Given the description of an element on the screen output the (x, y) to click on. 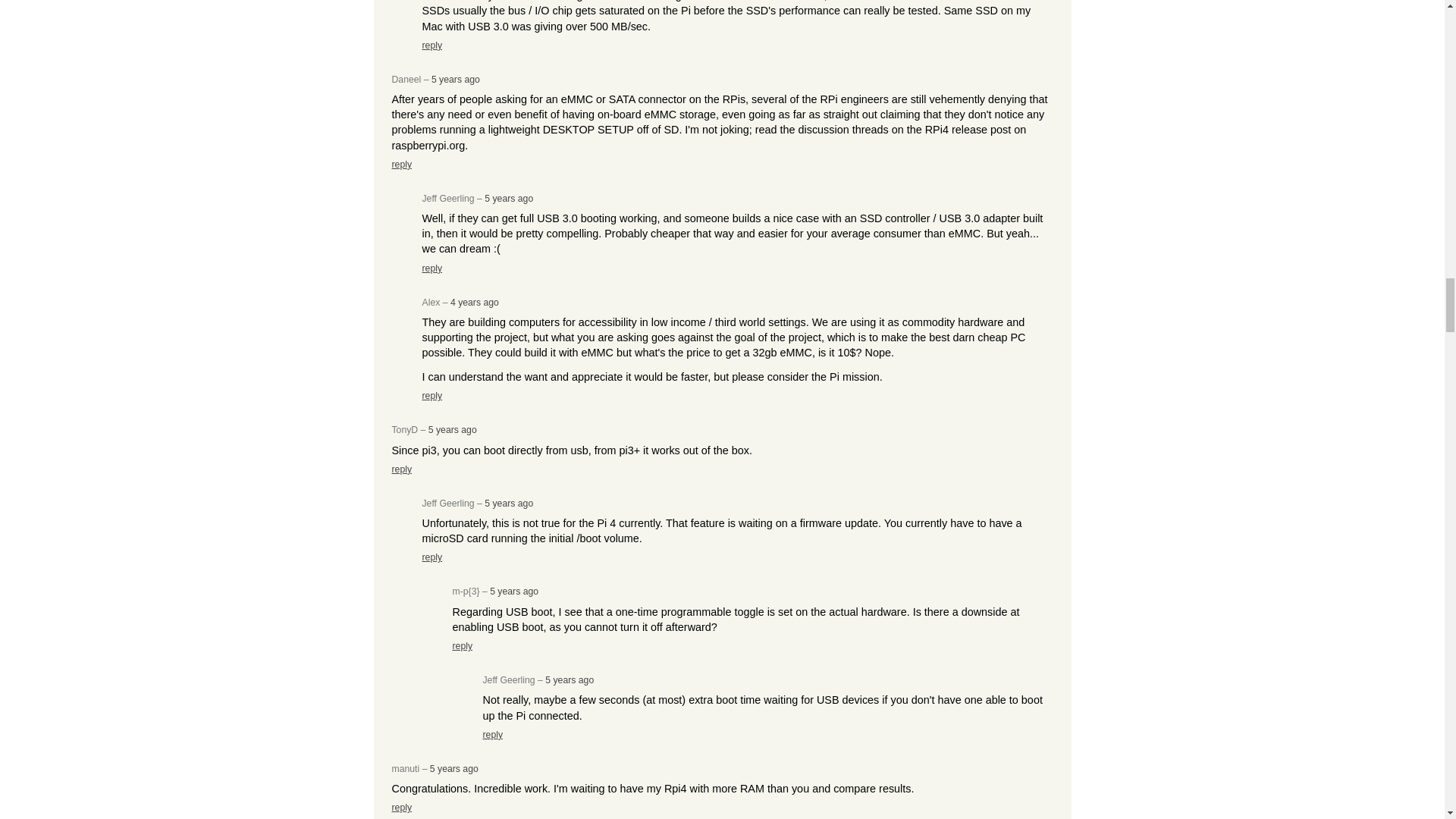
reply (432, 45)
5 years ago (455, 79)
4 years ago (474, 302)
reply (401, 163)
reply (432, 395)
reply (401, 469)
5 years ago (508, 198)
5 years ago (452, 429)
reply (432, 267)
